Given the description of an element on the screen output the (x, y) to click on. 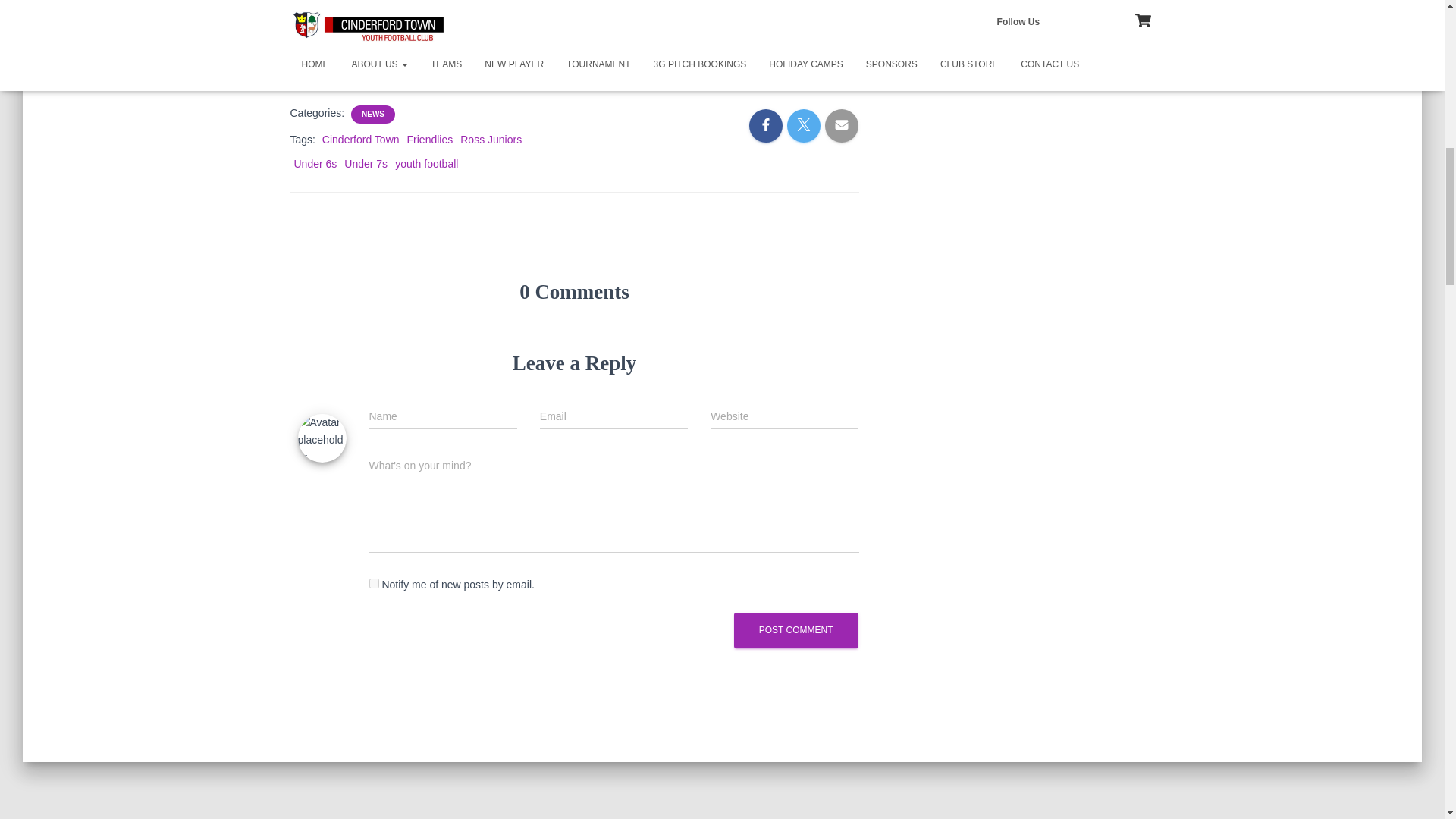
Post Comment (796, 630)
Under 6s (315, 163)
Under 7s (365, 163)
Ross Juniors (490, 139)
NEWS (372, 113)
subscribe (373, 583)
Friendlies (429, 139)
youth football (426, 163)
Cinderford Town (359, 139)
Post Comment (796, 630)
